Given the description of an element on the screen output the (x, y) to click on. 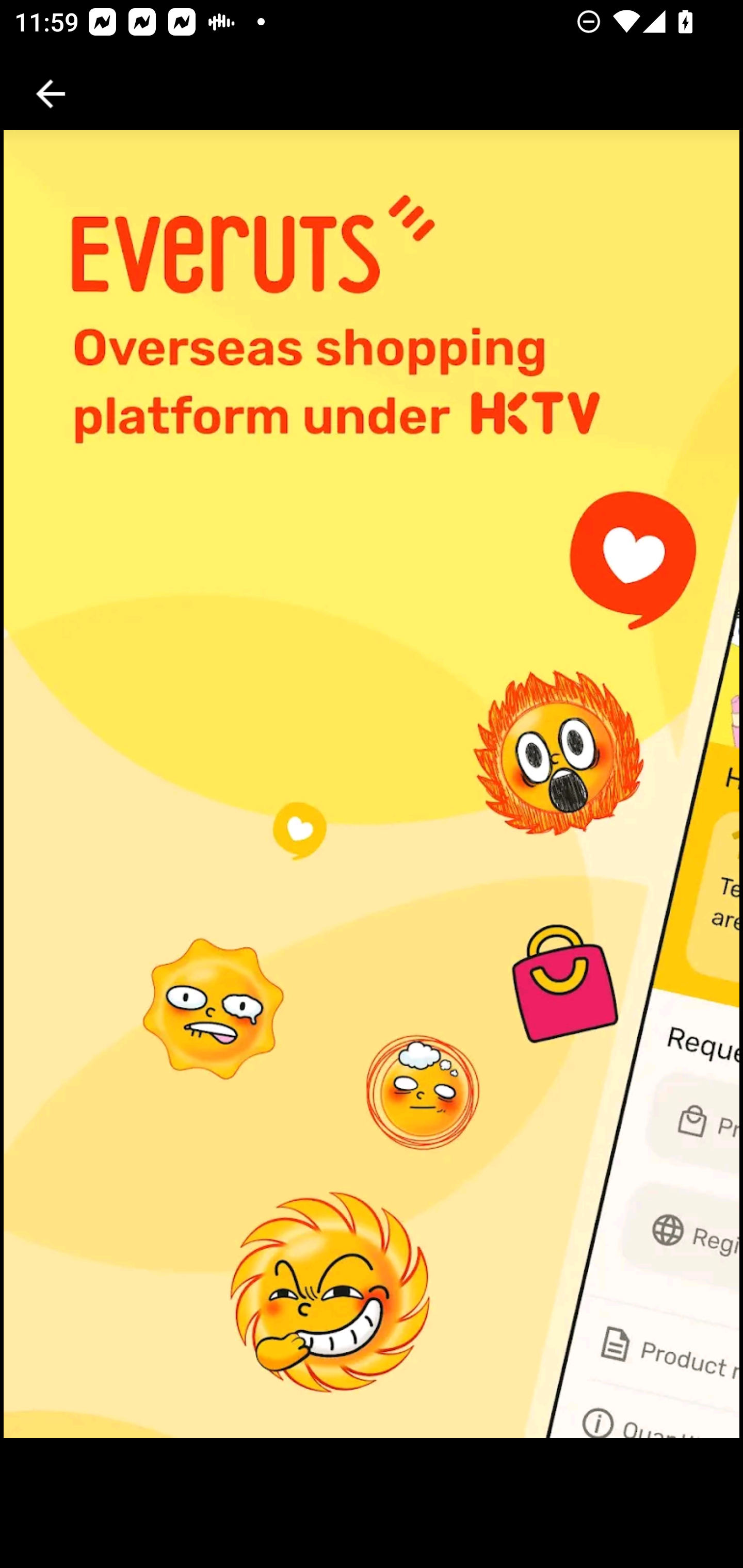
Back (50, 93)
